Given the description of an element on the screen output the (x, y) to click on. 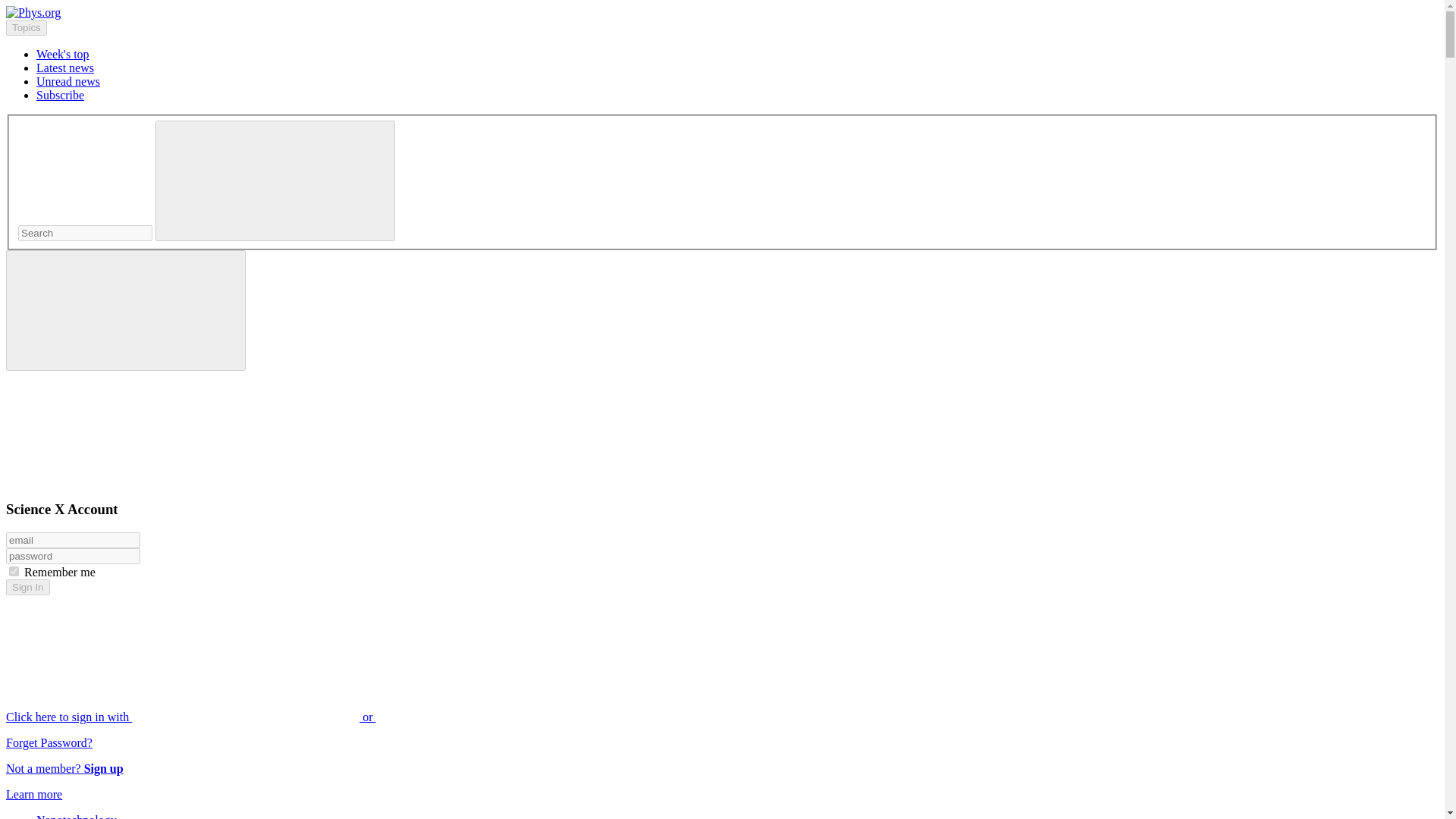
on (13, 571)
Nanotechnology (76, 816)
Latest news (65, 67)
Forget Password? (49, 742)
Subscribe (60, 94)
Not a member? Sign up (64, 768)
Sign In (27, 587)
Week's top (62, 53)
Click here to sign in with or (304, 716)
Topics (25, 27)
